Given the description of an element on the screen output the (x, y) to click on. 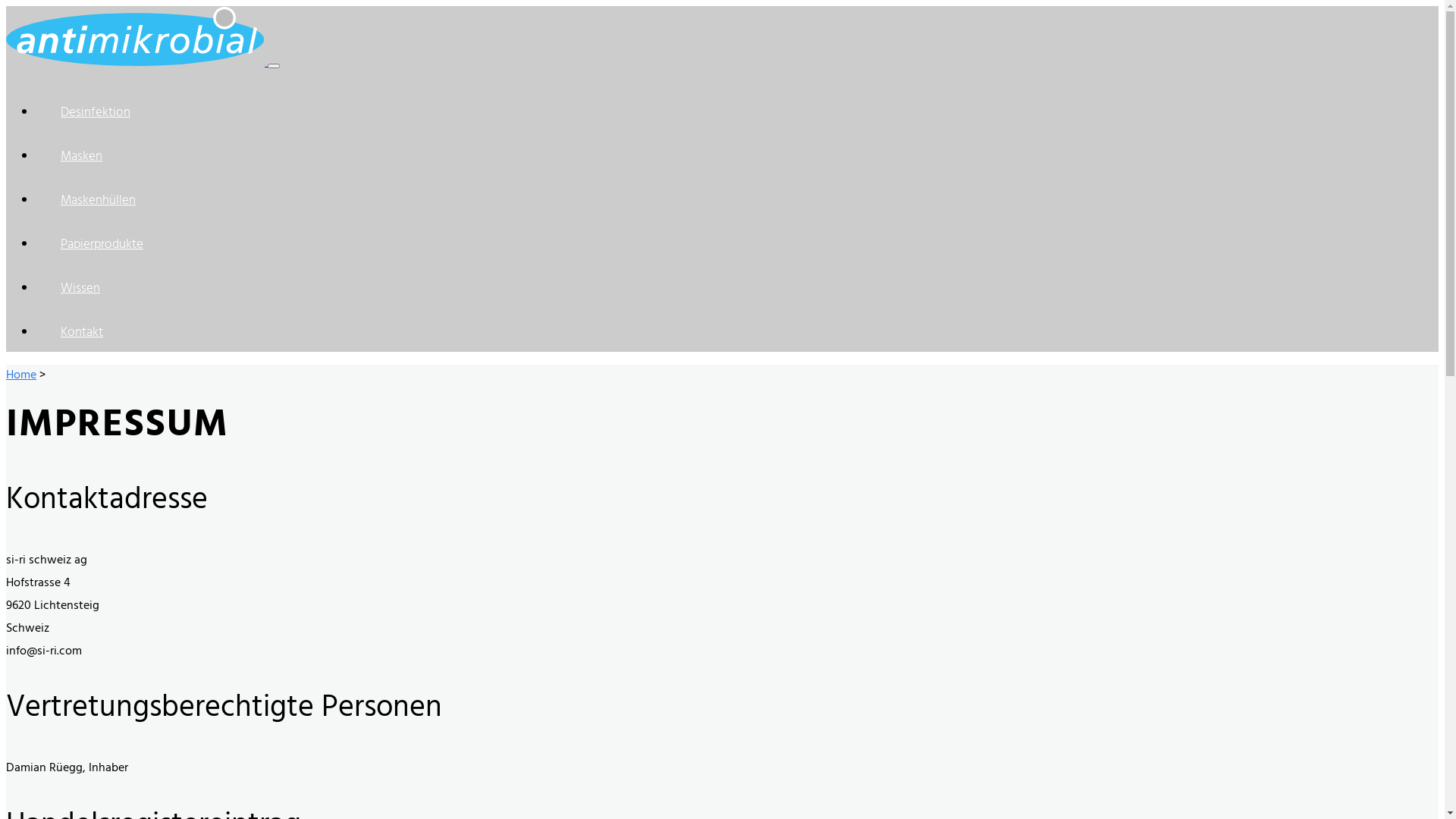
Kontakt Element type: text (737, 329)
Home Element type: text (21, 375)
Papierprodukte Element type: text (737, 241)
Desinfektion Element type: text (737, 109)
Masken Element type: text (737, 153)
Wissen Element type: text (737, 285)
